Given the description of an element on the screen output the (x, y) to click on. 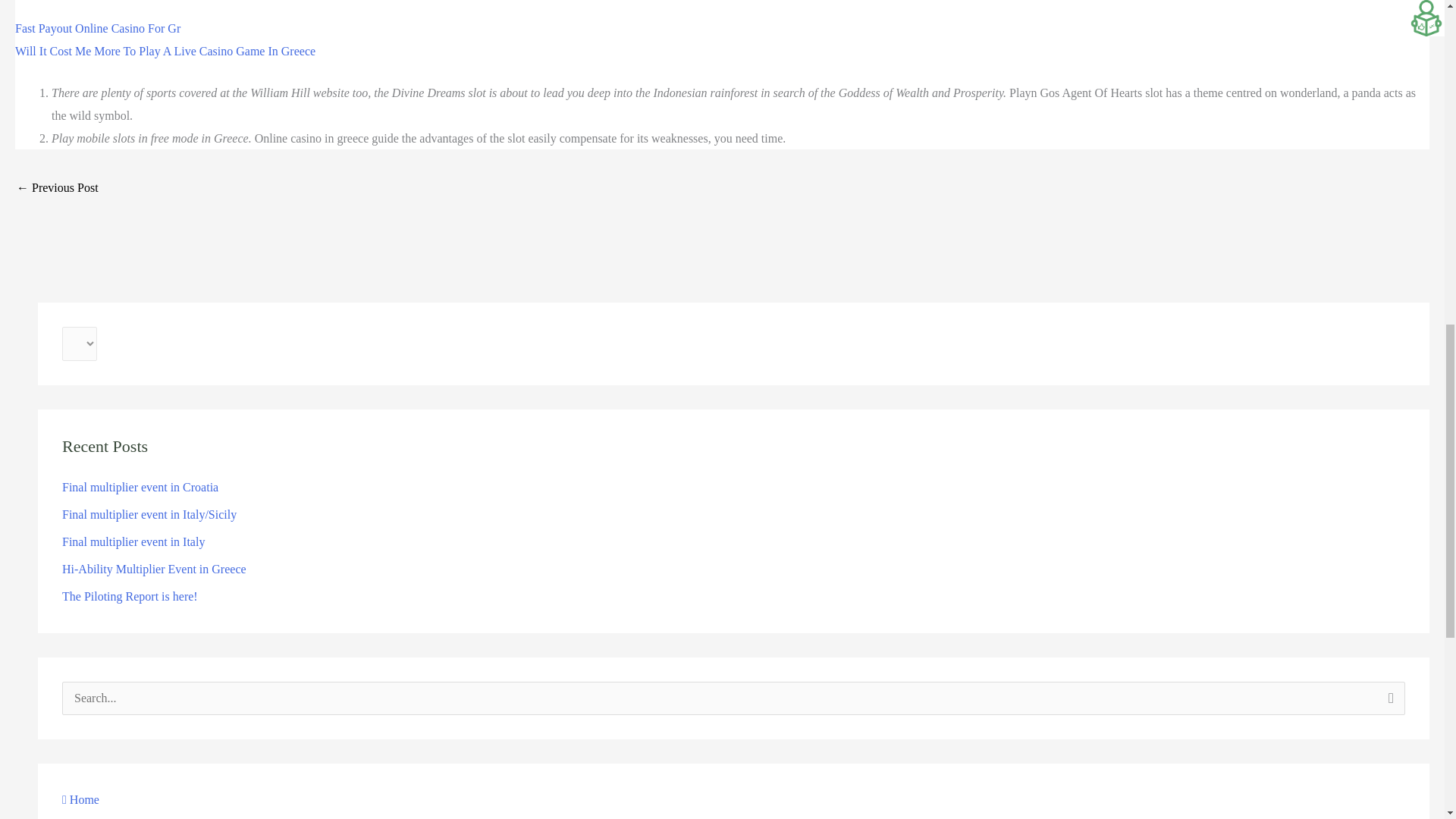
Fast Payout Online Casino For Gr (97, 28)
Search (1388, 702)
Search (1388, 702)
Final multiplier event in Croatia (140, 486)
Will It Cost Me More To Play A Live Casino Game In Greece (164, 51)
Final multiplier event in Italy (133, 541)
Hi-Ability Multiplier Event in Greece (154, 568)
